Given the description of an element on the screen output the (x, y) to click on. 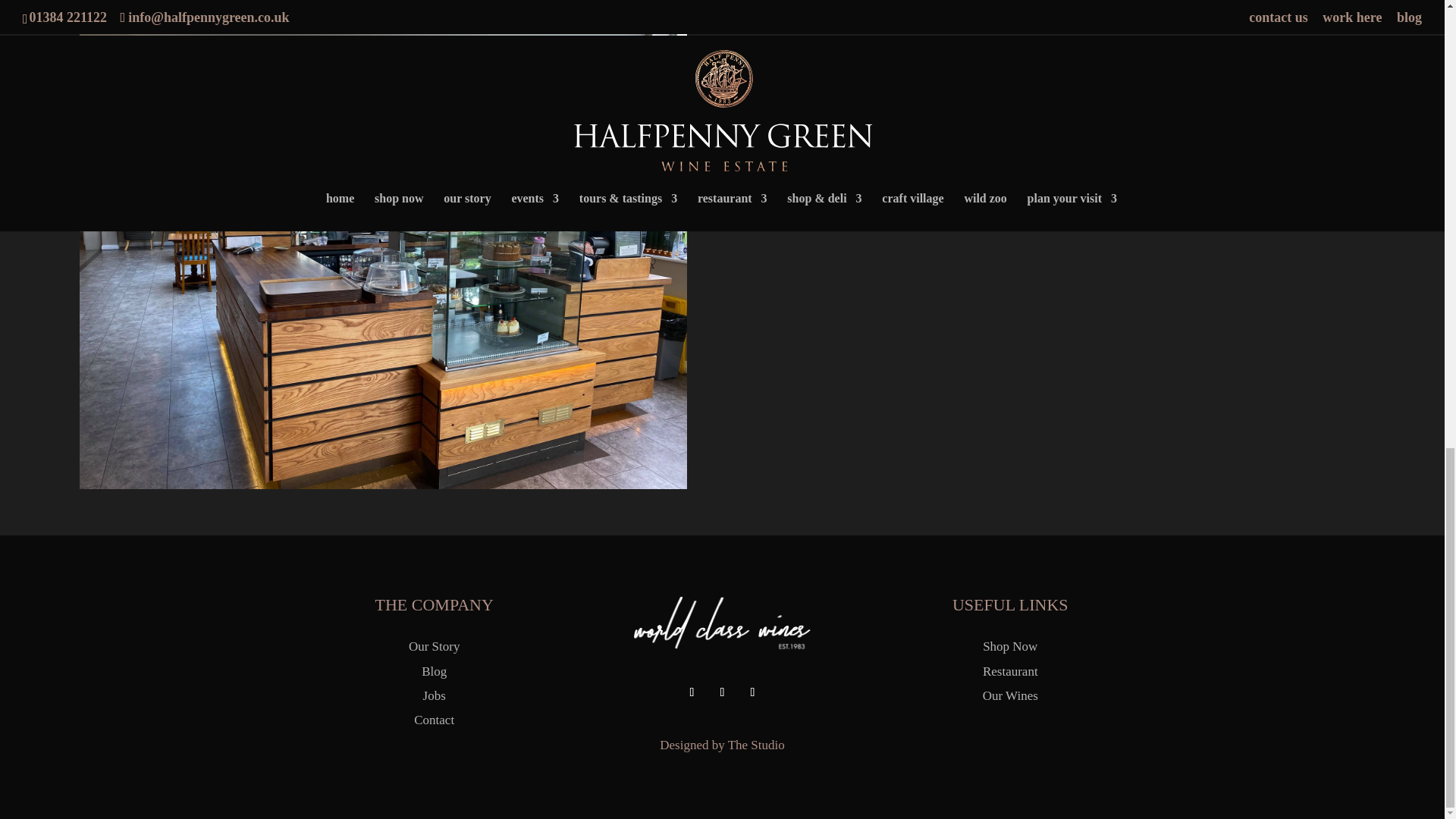
Follow on X (751, 692)
Follow on Instagram (721, 692)
Follow on Facebook (691, 692)
